Given the description of an element on the screen output the (x, y) to click on. 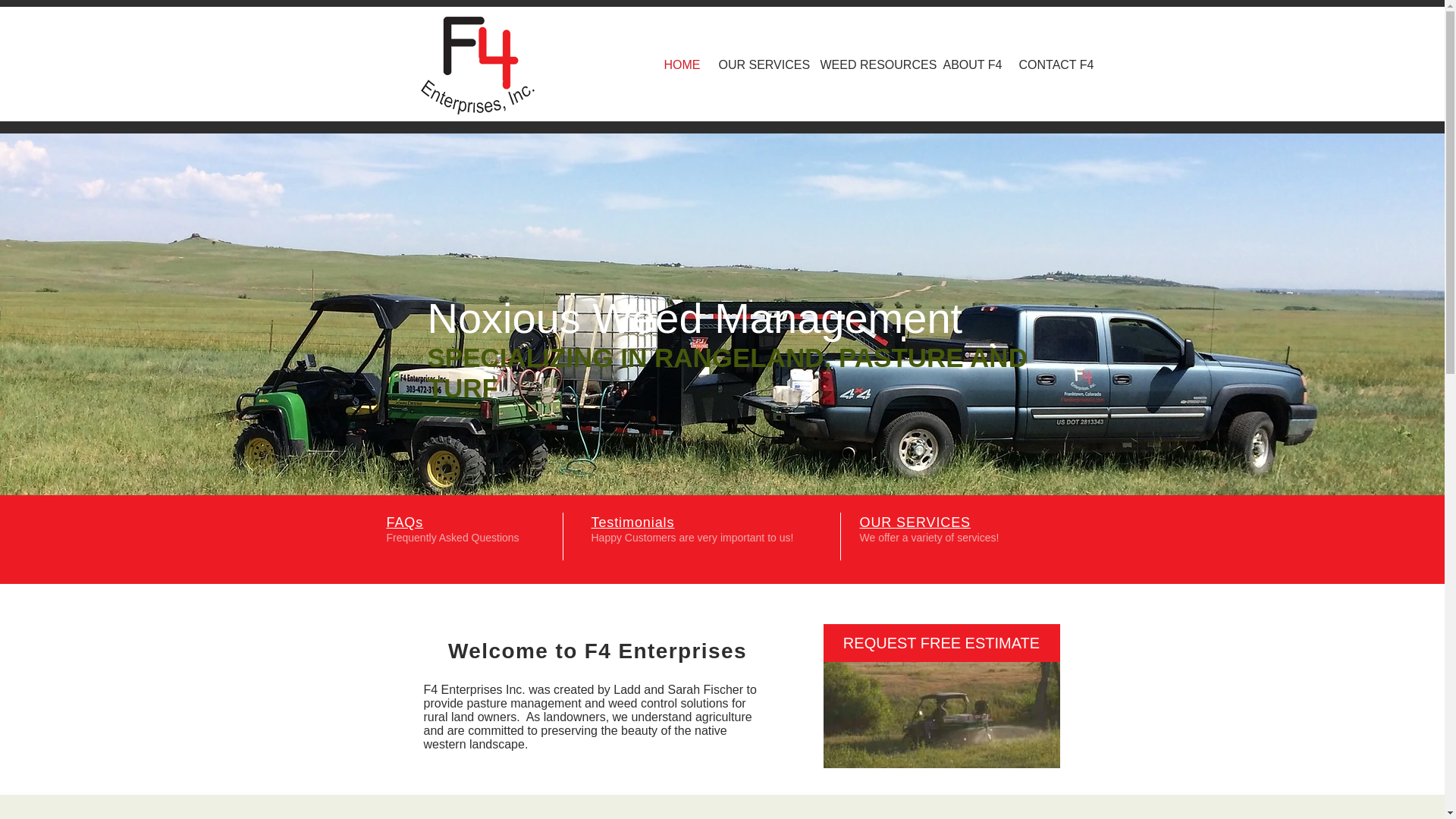
Testimonials (633, 522)
CONTACT F4 (1050, 64)
REQUEST FREE ESTIMATE (941, 642)
ABOUT F4 (969, 64)
OUR SERVICES (915, 522)
Noxious Weed Management (695, 318)
HOME (679, 64)
FAQs (405, 522)
WEED RESOURCES (869, 64)
OUR SERVICES (757, 64)
